Given the description of an element on the screen output the (x, y) to click on. 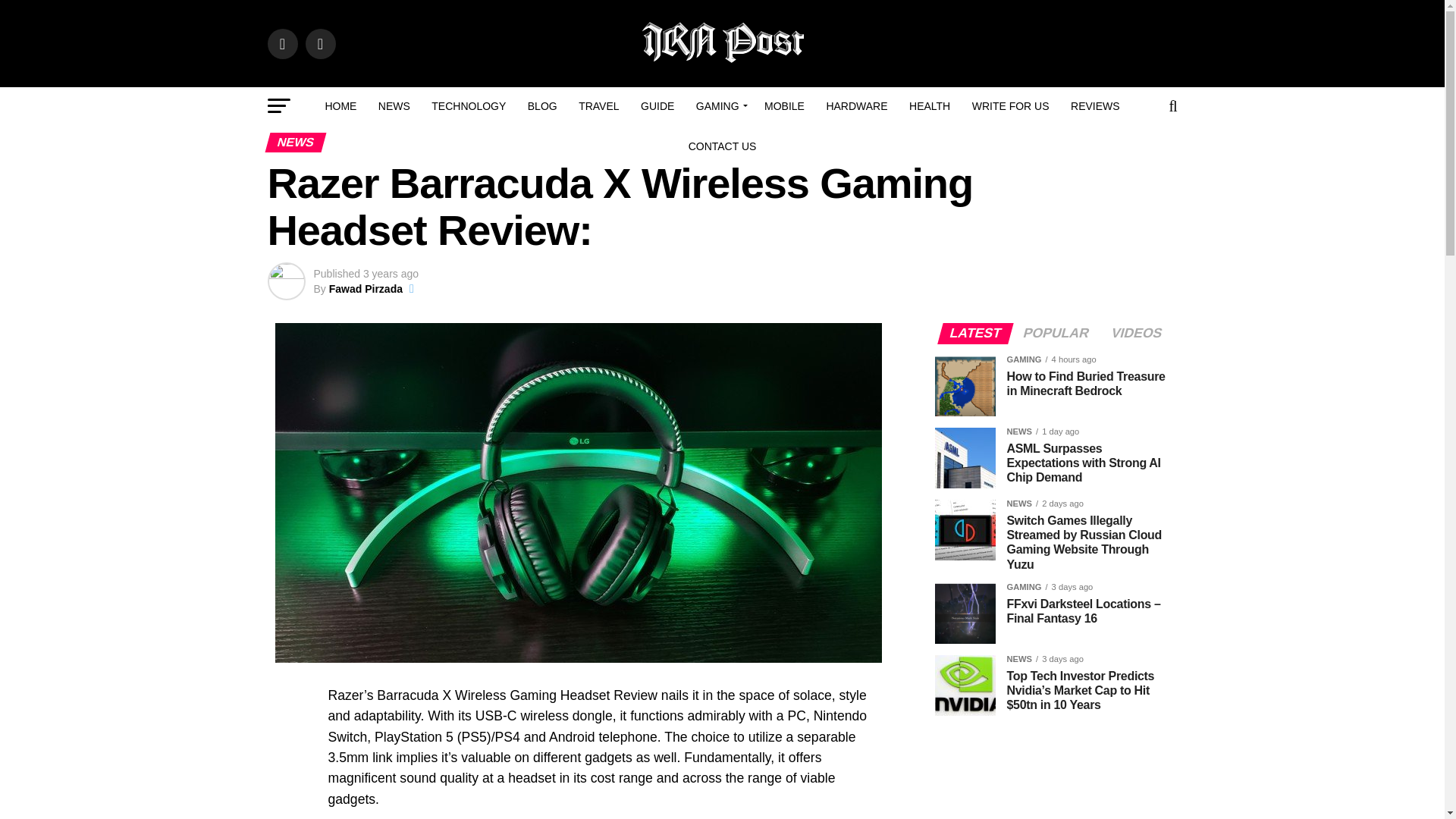
Posts by Fawad Pirzada (366, 288)
TRAVEL (598, 105)
HOME (340, 105)
GAMING (719, 105)
BLOG (542, 105)
TECHNOLOGY (468, 105)
NEWS (394, 105)
GUIDE (656, 105)
